Given the description of an element on the screen output the (x, y) to click on. 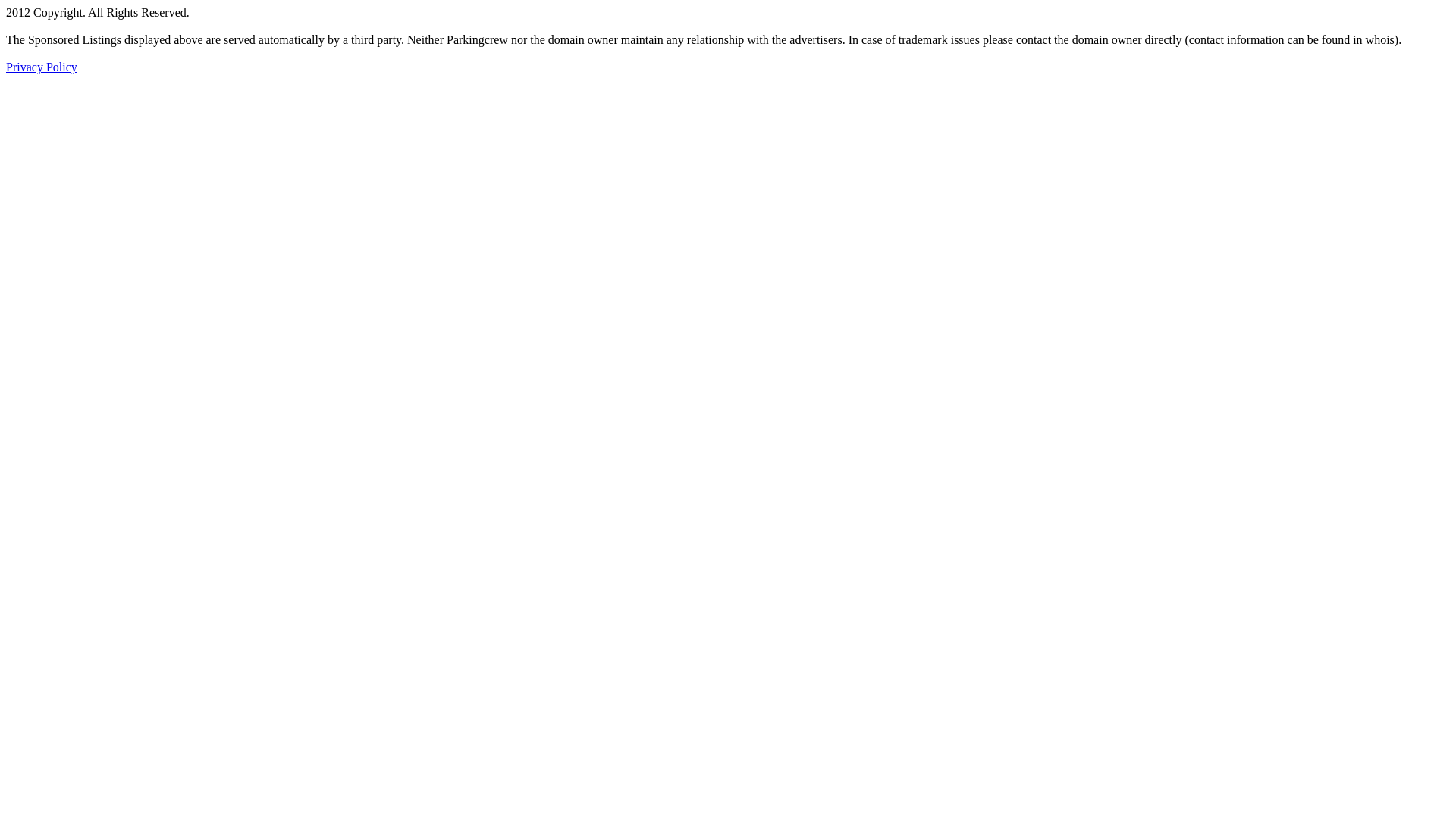
Privacy Policy Element type: text (41, 66)
